Given the description of an element on the screen output the (x, y) to click on. 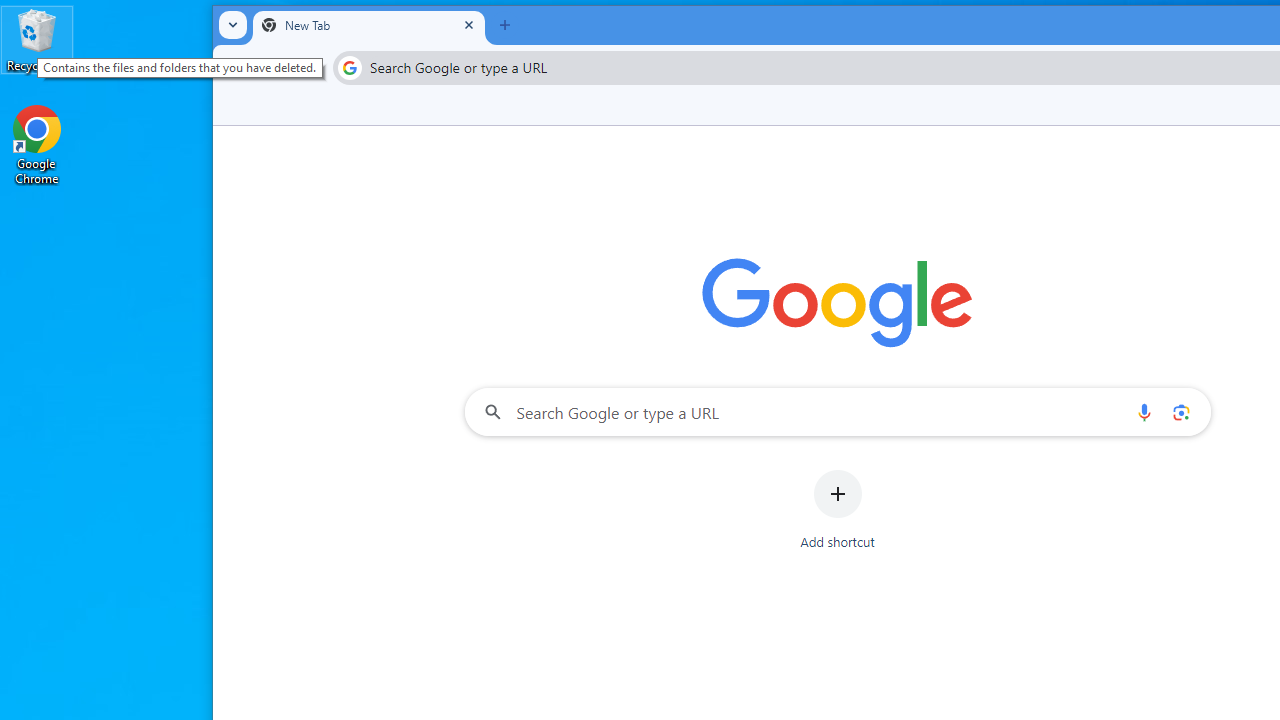
Google Chrome (37, 144)
Recycle Bin (37, 39)
